Given the description of an element on the screen output the (x, y) to click on. 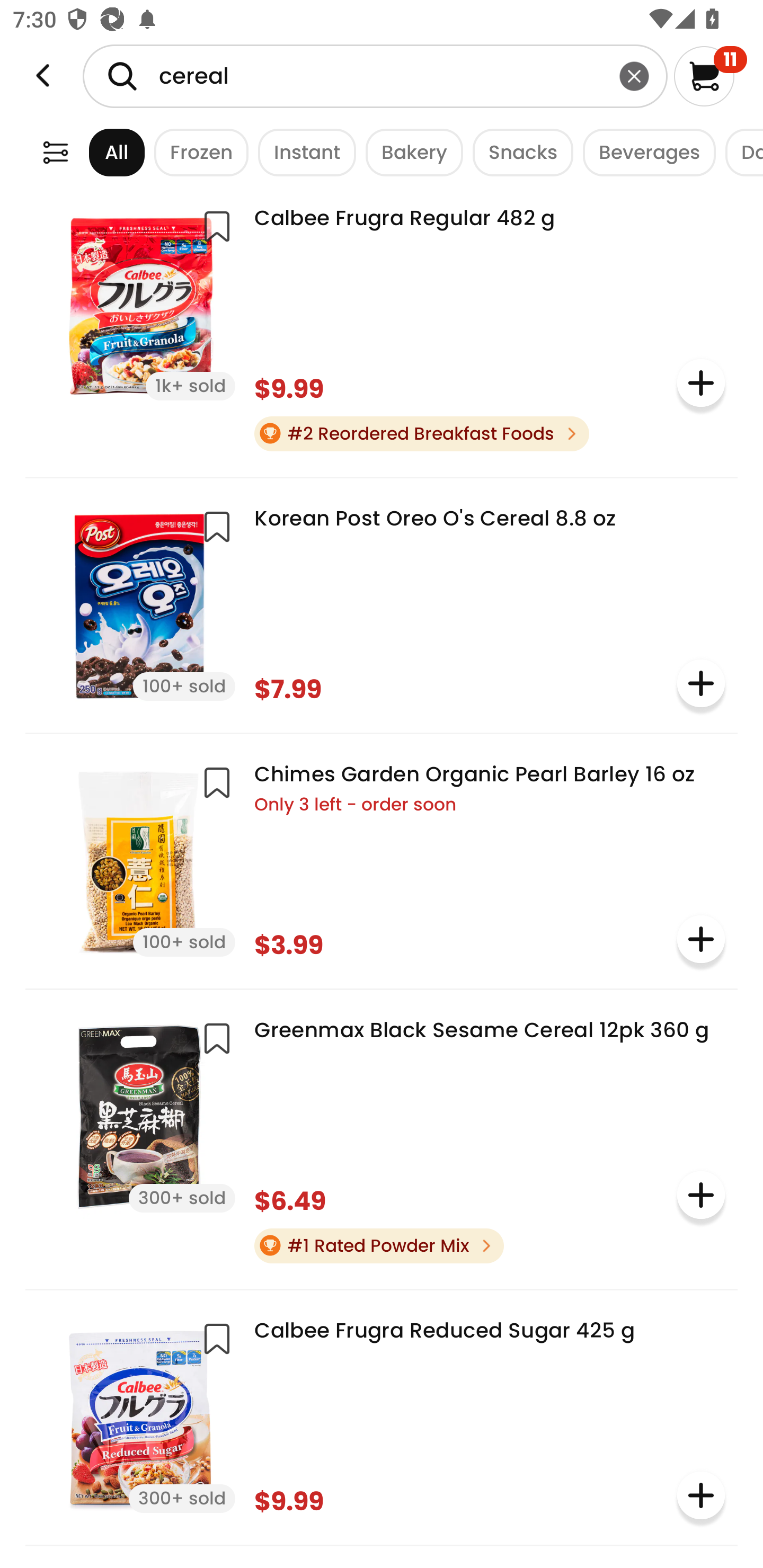
cereal (374, 75)
11 (709, 75)
Weee! (42, 76)
Weee! (55, 151)
All (99, 151)
Frozen (196, 151)
Instant (302, 151)
Bakery (409, 151)
Snacks (518, 151)
Beverages (644, 151)
Korean Post Oreo O's Cereal 8.8 oz 100+ sold $7.99 (381, 603)
Calbee Frugra Reduced Sugar 425 g 300+ sold $9.99 (381, 1415)
